Given the description of an element on the screen output the (x, y) to click on. 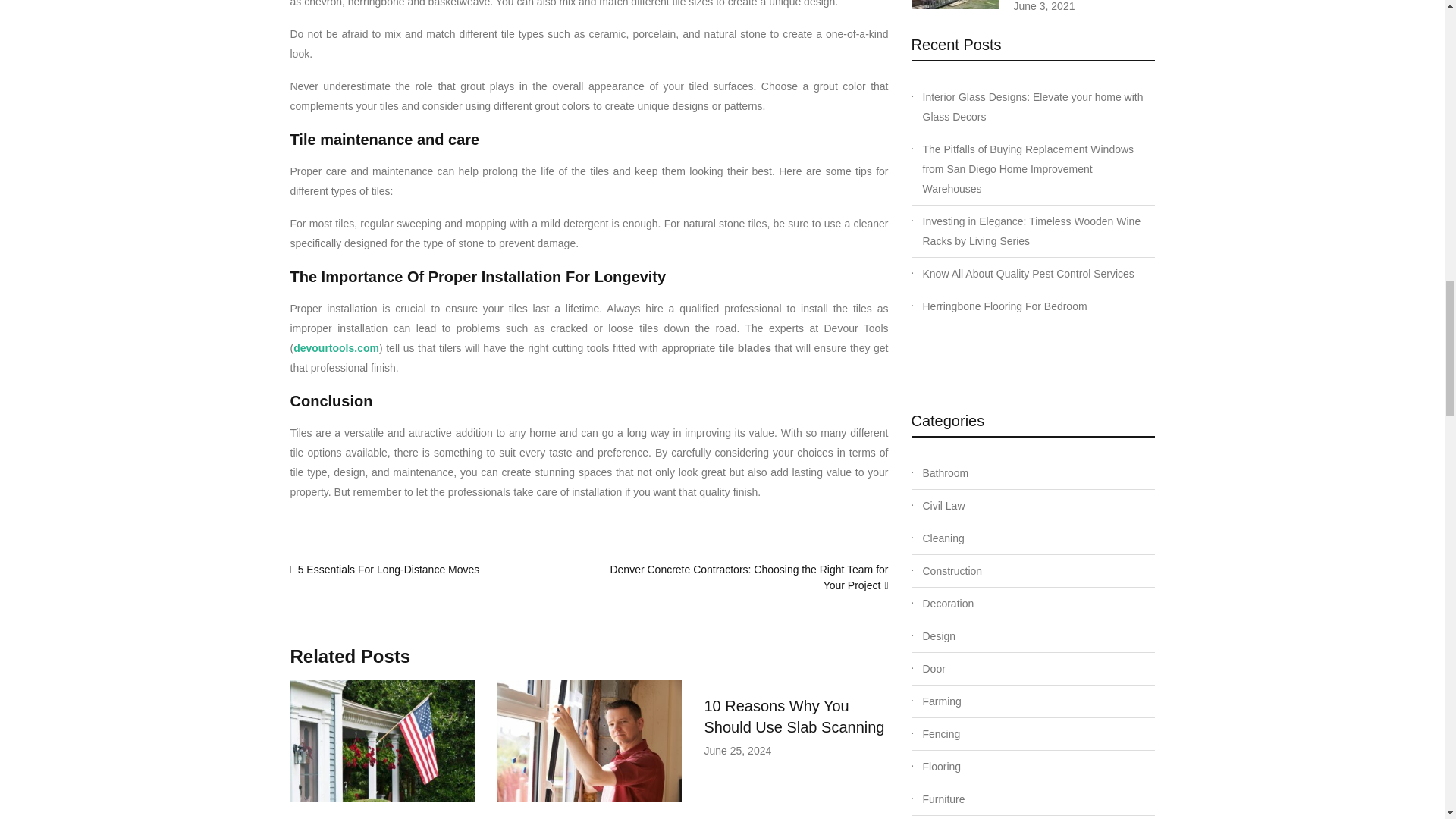
devourtools.com (336, 347)
5 Essentials For Long-Distance Moves (389, 569)
